Given the description of an element on the screen output the (x, y) to click on. 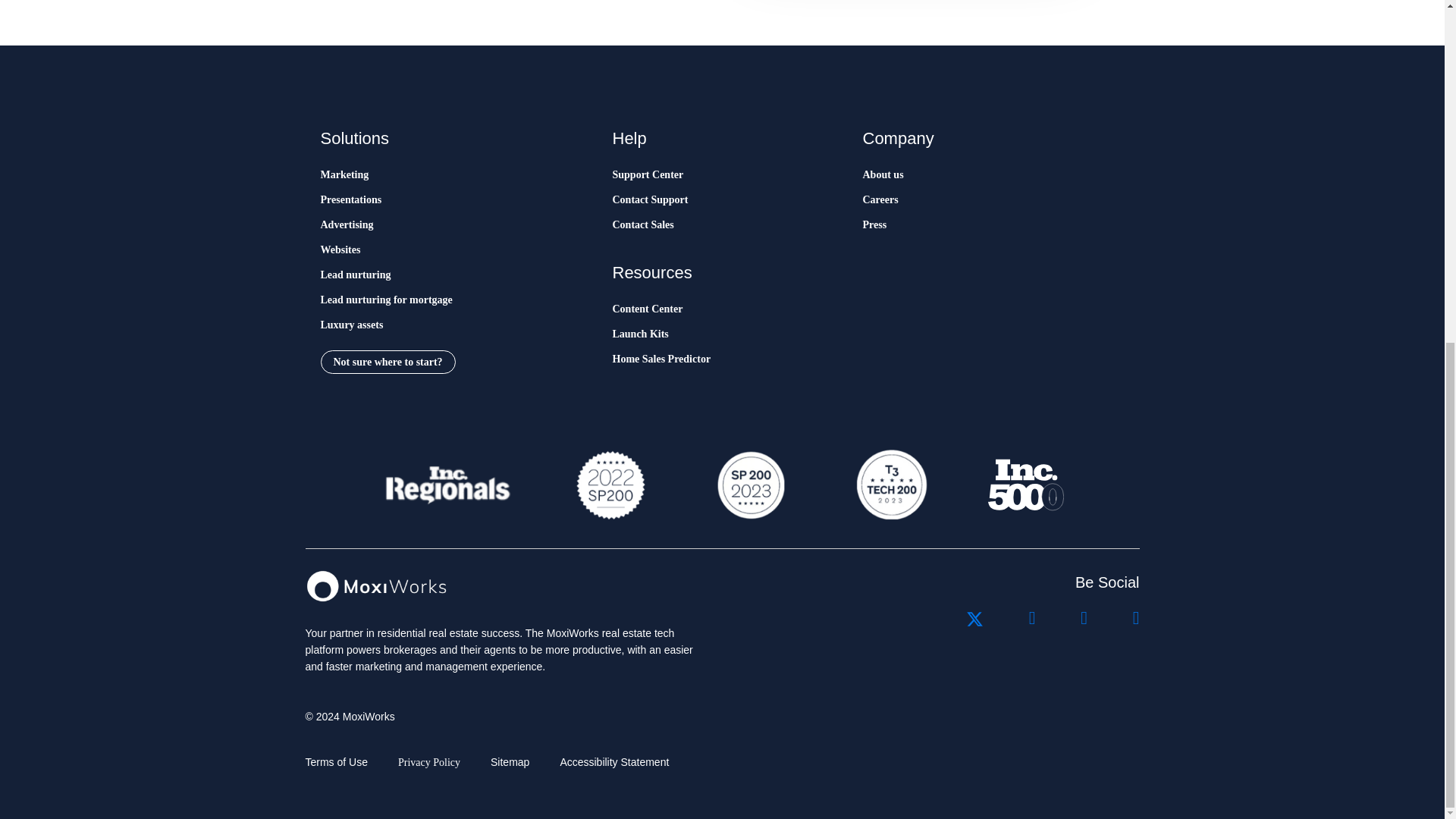
T3 tech 200 2023 (890, 484)
SP 2023 (749, 484)
SP 2022 (610, 484)
